Given the description of an element on the screen output the (x, y) to click on. 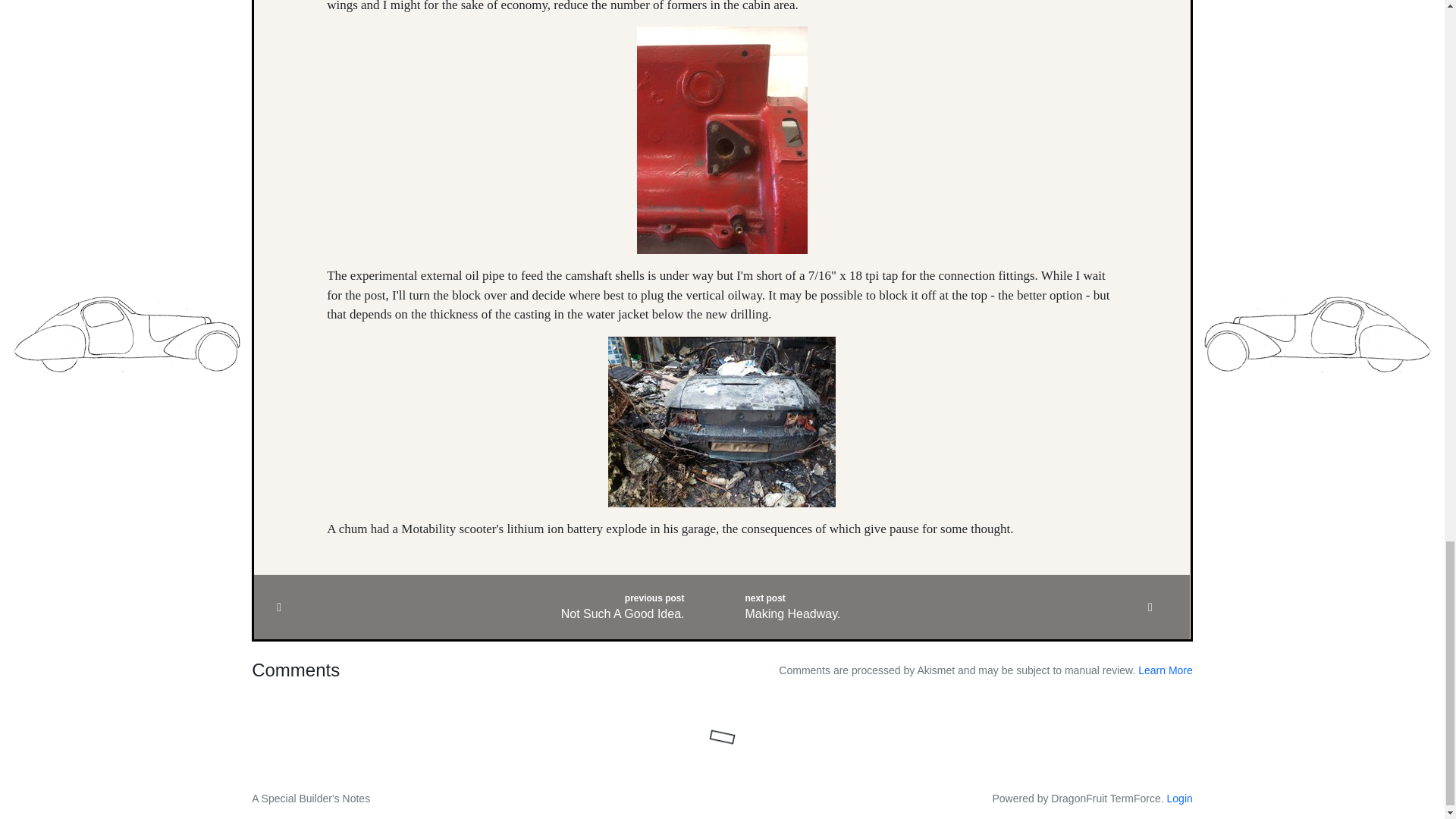
Learn More (487, 606)
Login (1165, 670)
